Given the description of an element on the screen output the (x, y) to click on. 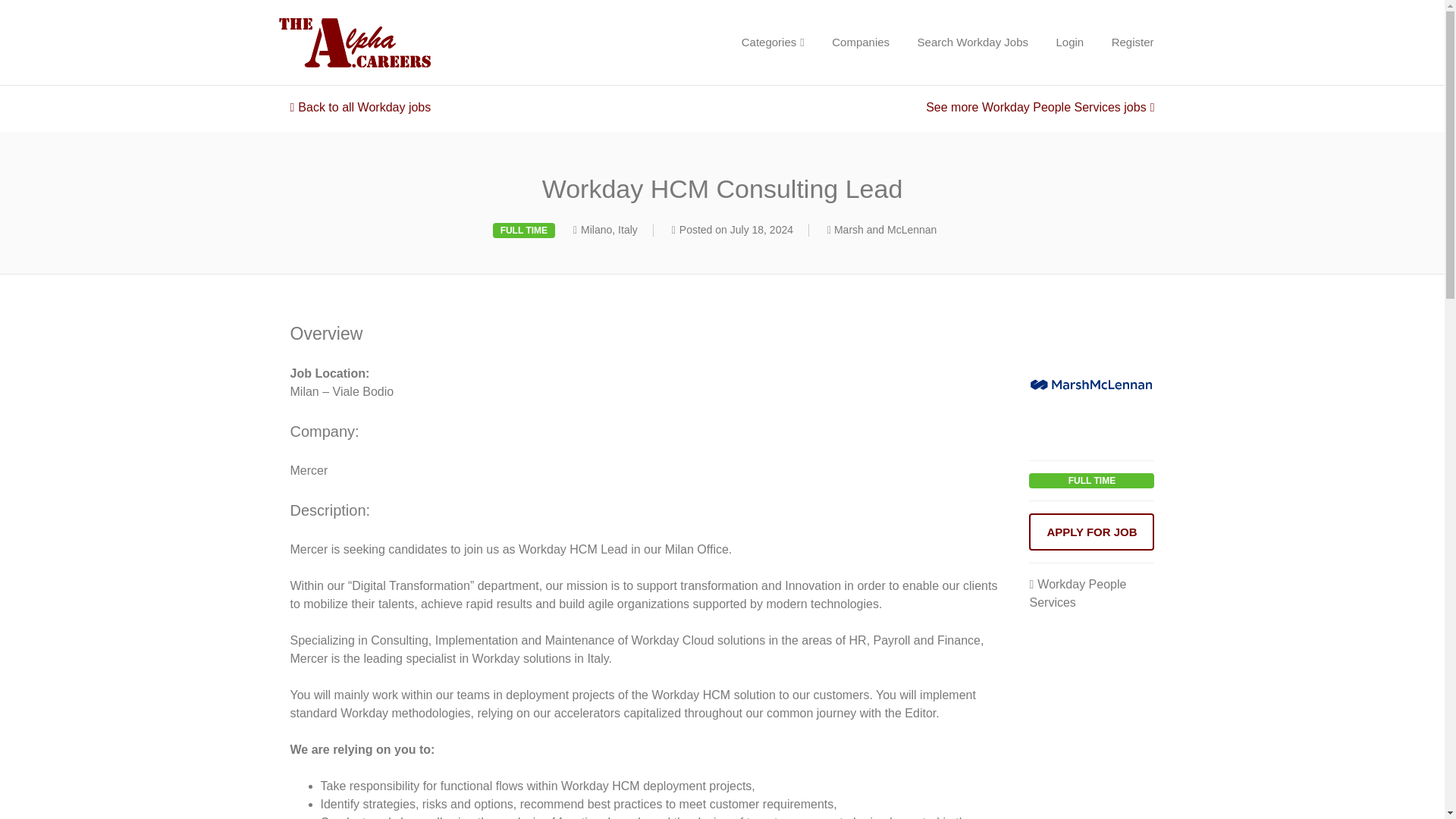
Marsh and McLennan (885, 229)
TheAlpha.Careers (408, 42)
Categories (772, 42)
Search Workday Jobs (973, 42)
Companies (860, 42)
Login (1069, 42)
Register (1132, 42)
APPLY FOR JOB (1091, 531)
Back to all Workday jobs (359, 106)
See more Workday People Services jobs (1040, 106)
